Given the description of an element on the screen output the (x, y) to click on. 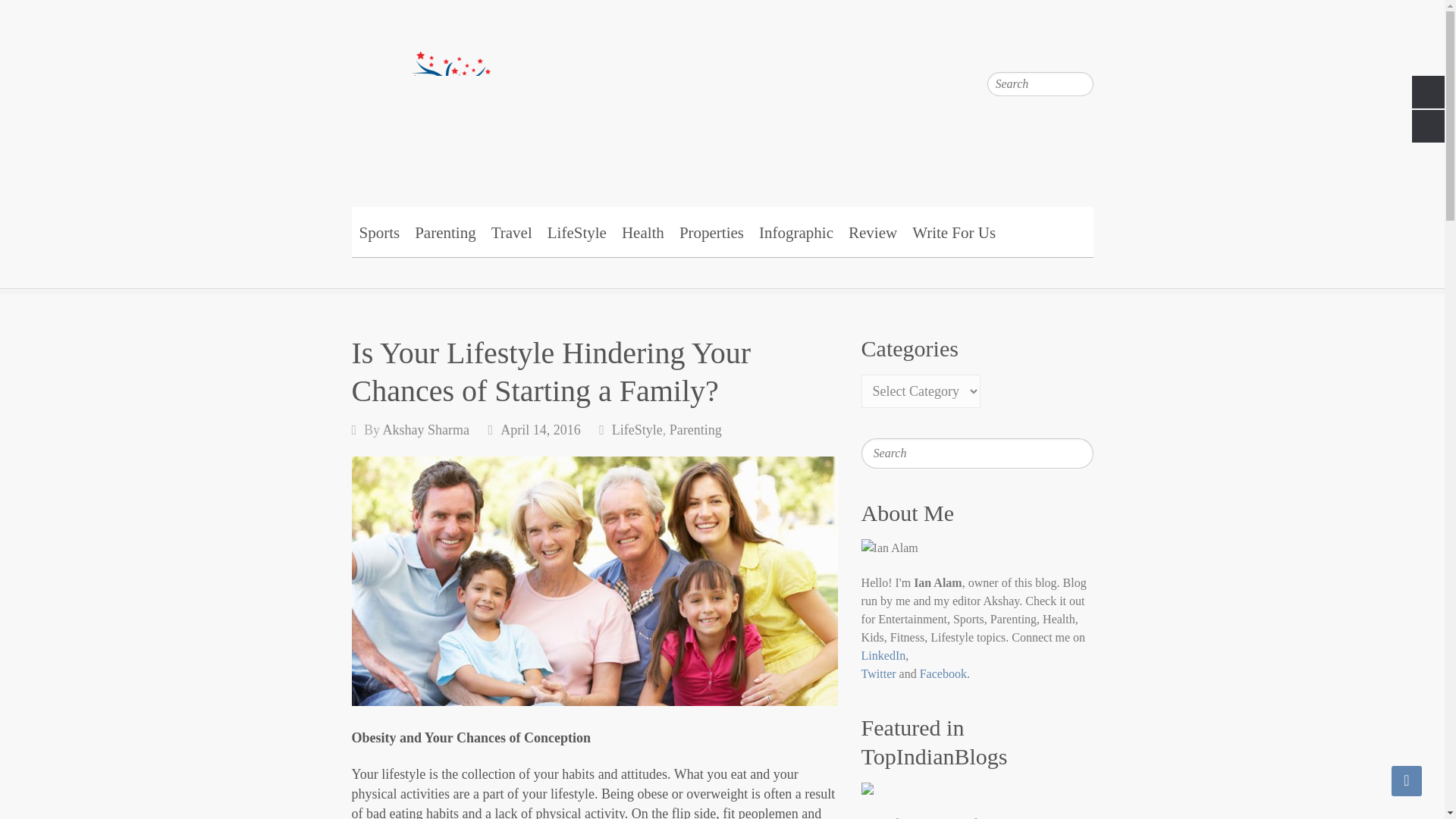
Travel (511, 232)
LifeStyle (577, 232)
Infographic (796, 232)
Health (642, 232)
Parenting (445, 232)
April 14, 2016 (540, 429)
Parenting (695, 429)
Sports (379, 232)
7:02 am (540, 429)
Imagination Waffle Facebook (1051, 45)
Imagination Waffle (722, 95)
Imagination Waffle on Twitter (1081, 45)
Imagination Waffle Twitter (1081, 45)
Imagination Waffle on Facebook (1051, 45)
Properties (711, 232)
